Given the description of an element on the screen output the (x, y) to click on. 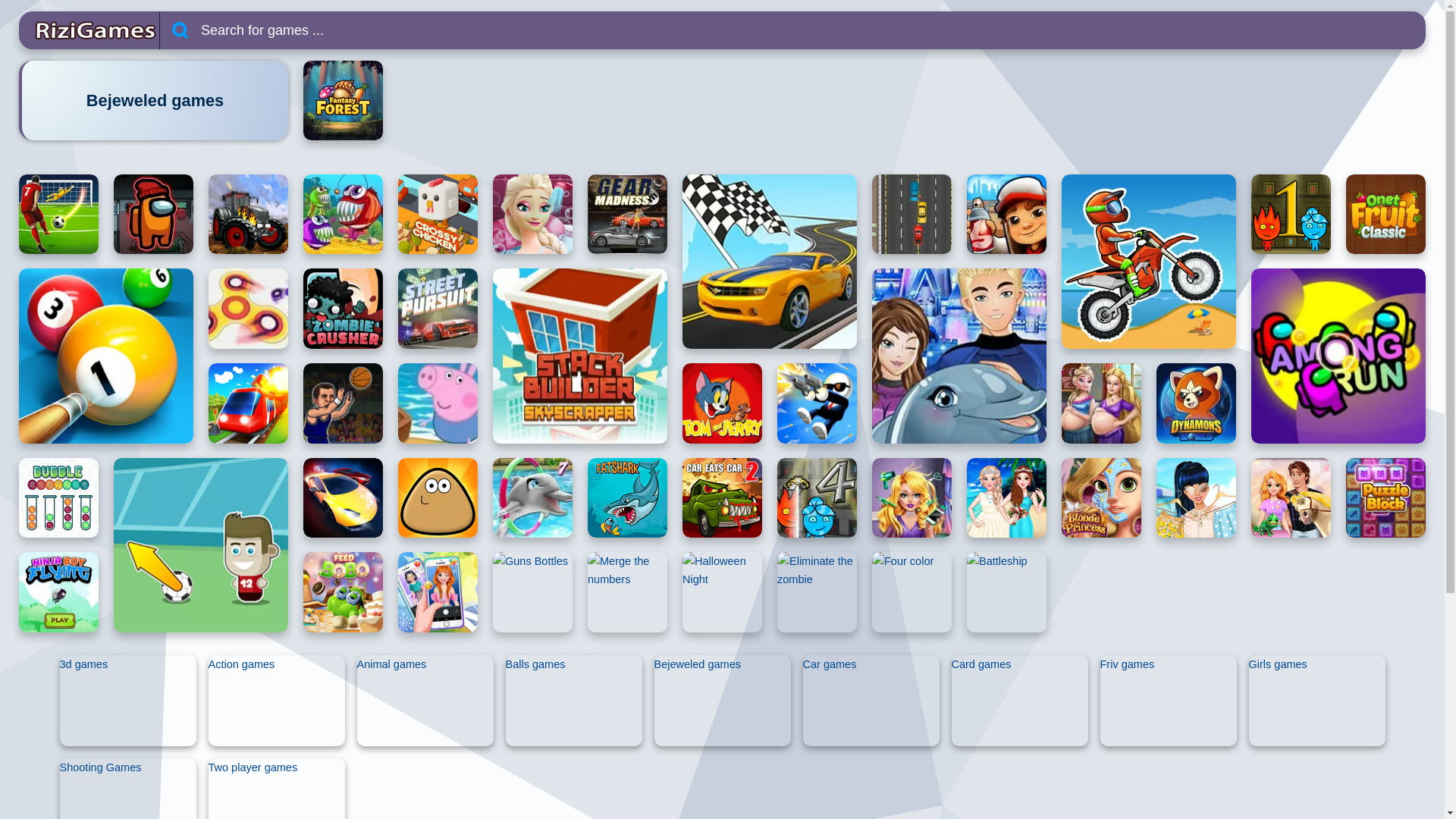
Impostor (153, 213)
Mad fish (342, 213)
Tractor mania (248, 213)
Fantasy forest (342, 100)
Penalty kick (58, 213)
Online games (88, 29)
